Given the description of an element on the screen output the (x, y) to click on. 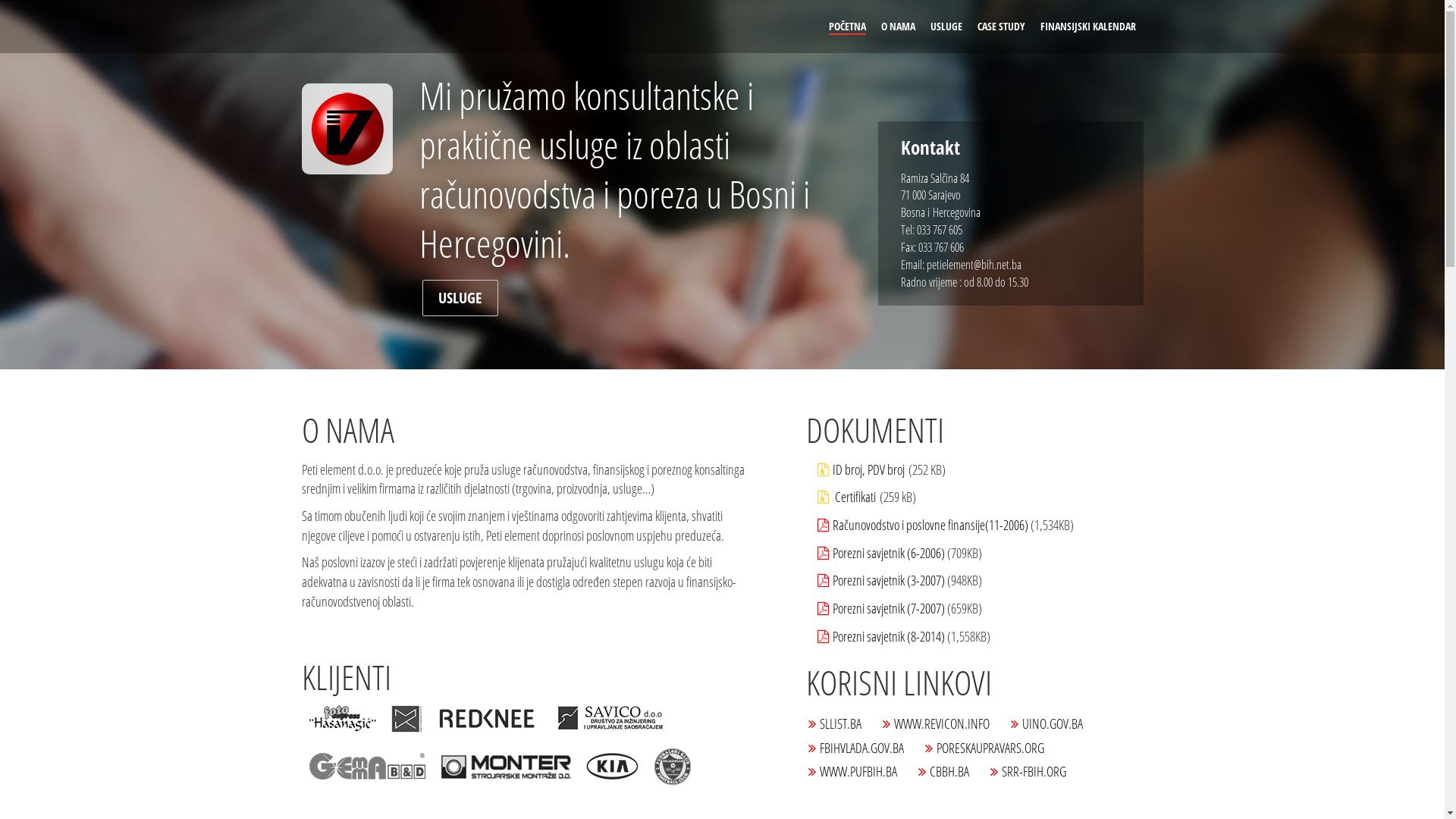
SRR-FBIH.ORG Element type: text (1033, 771)
Redknee BH doo, Sarajevo Element type: hover (486, 718)
Porezni savjetnik (8-2014) Element type: text (888, 636)
WWW.PUFBIH.BA Element type: text (857, 771)
O NAMA Element type: text (898, 25)
USLUGE Element type: text (945, 25)
PORESKAUPRAVARS.ORG Element type: text (989, 747)
USLUGE Element type: text (460, 297)
FINANSIJSKI KALENDAR Element type: text (1087, 25)
Certifikati Element type: text (853, 496)
UINO.GOV.BA Element type: text (1052, 723)
Savico doo, Sarajevo Element type: hover (609, 718)
Porezni savjetnik (6-2006) Element type: text (888, 552)
CBBH.BA Element type: text (949, 771)
CASE STUDY Element type: text (1000, 25)
WWW.REVICON.INFO Element type: text (940, 723)
SLLIST.BA Element type: text (839, 723)
ID broj, PDV broj Element type: text (868, 468)
M&K Company doo, Domaljevac Element type: hover (406, 718)
Porezni savjetnik (3-2007) Element type: text (888, 580)
FBIHVLADA.GOV.BA Element type: text (861, 747)
Gemma BH doo, Sarajevo Element type: hover (367, 766)
KIA C.J.I. BH doo, Sarajevo Element type: hover (611, 766)
Porezni savjetnik (7-2007) Element type: text (888, 608)
